Given the description of an element on the screen output the (x, y) to click on. 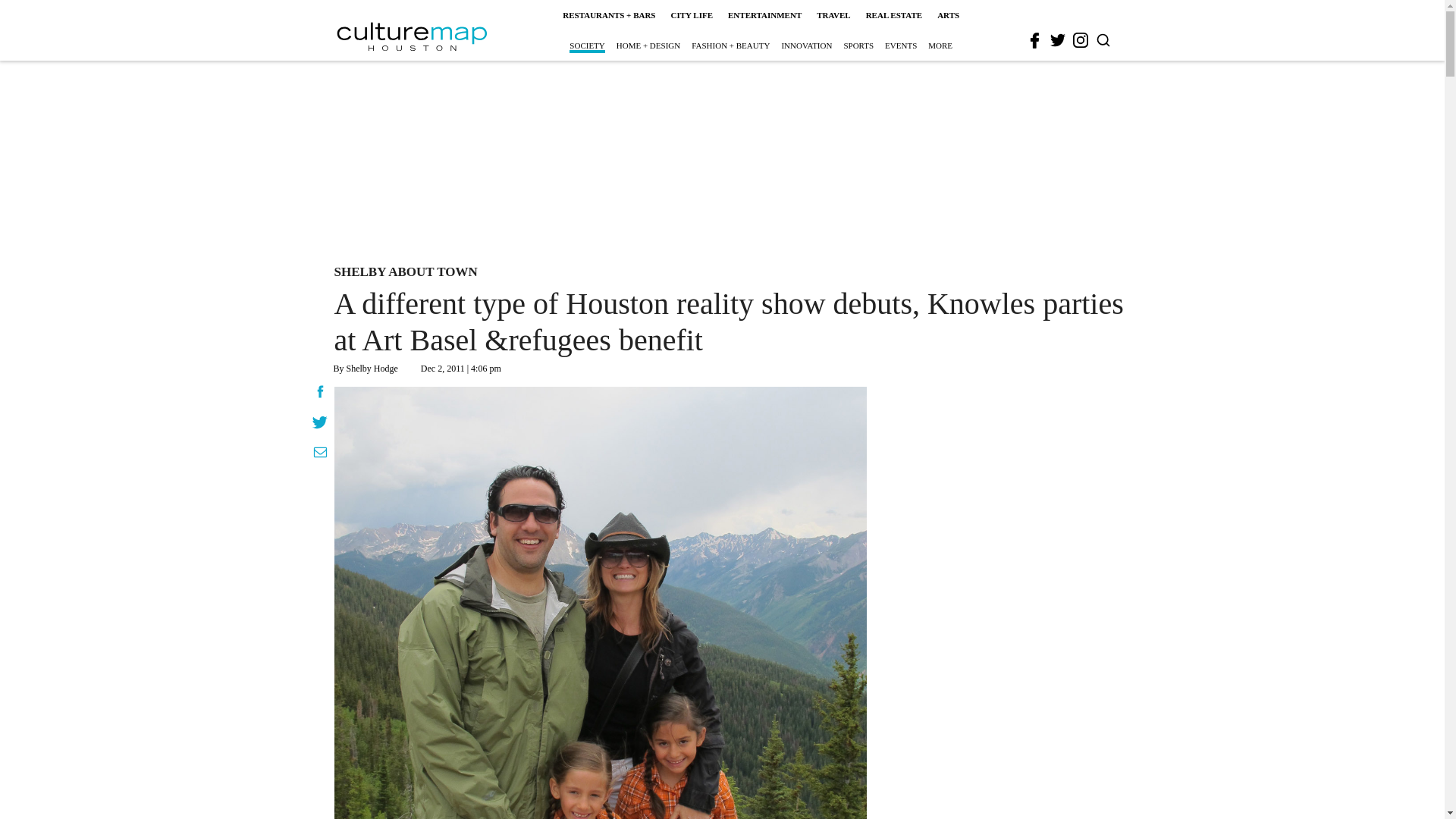
3rd party ad content (721, 160)
